Given the description of an element on the screen output the (x, y) to click on. 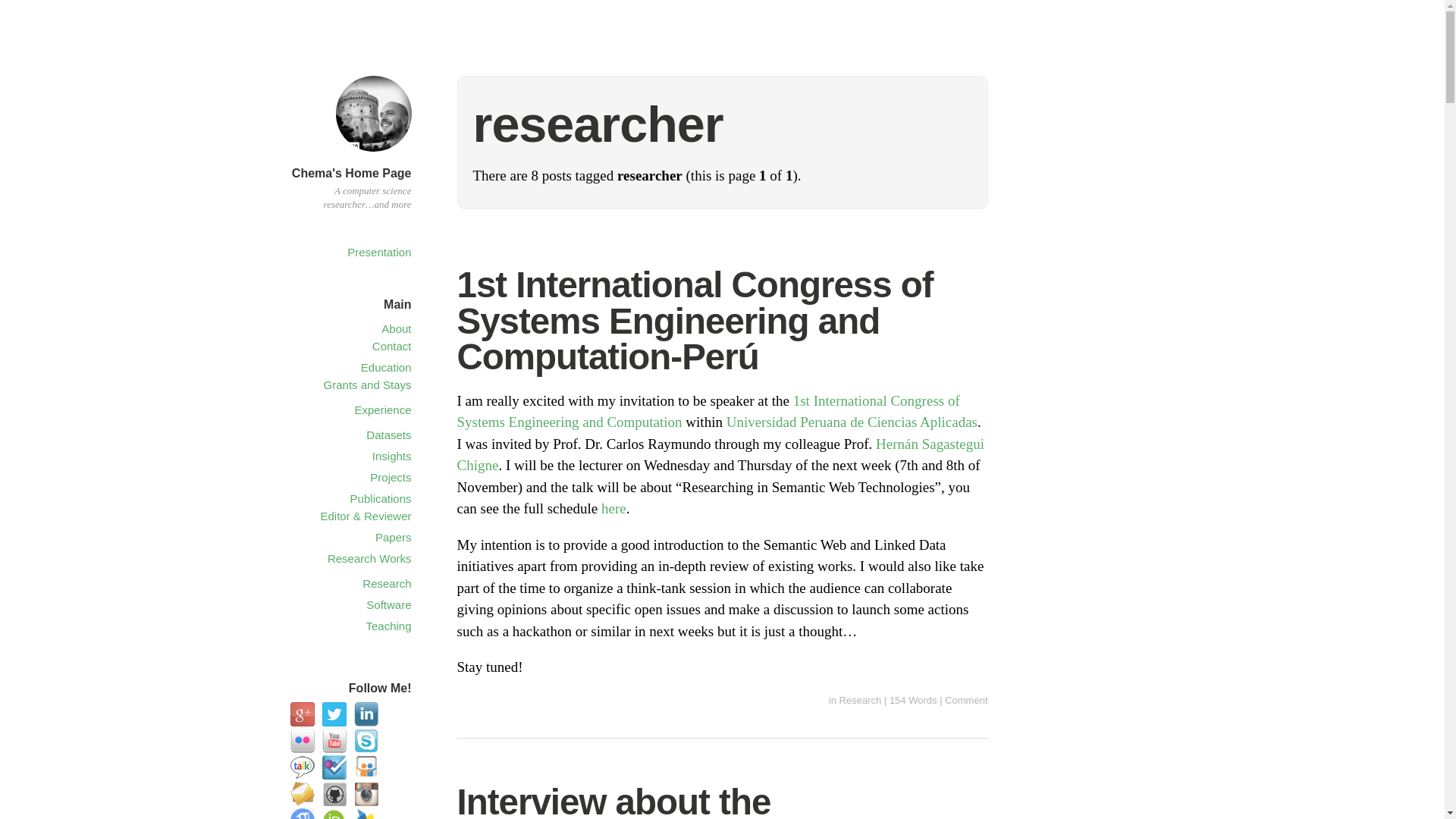
Chema's Home Page (372, 154)
Interview about the Webindex (613, 800)
here (613, 508)
Chema's Home Page (352, 173)
Presentation (378, 251)
Chema's Home Page (352, 173)
Comment (965, 699)
Permalink to Interview about the Webindex (613, 800)
Research (861, 699)
Universidad Peruana de Ciencias Aplicadas (851, 421)
